Given the description of an element on the screen output the (x, y) to click on. 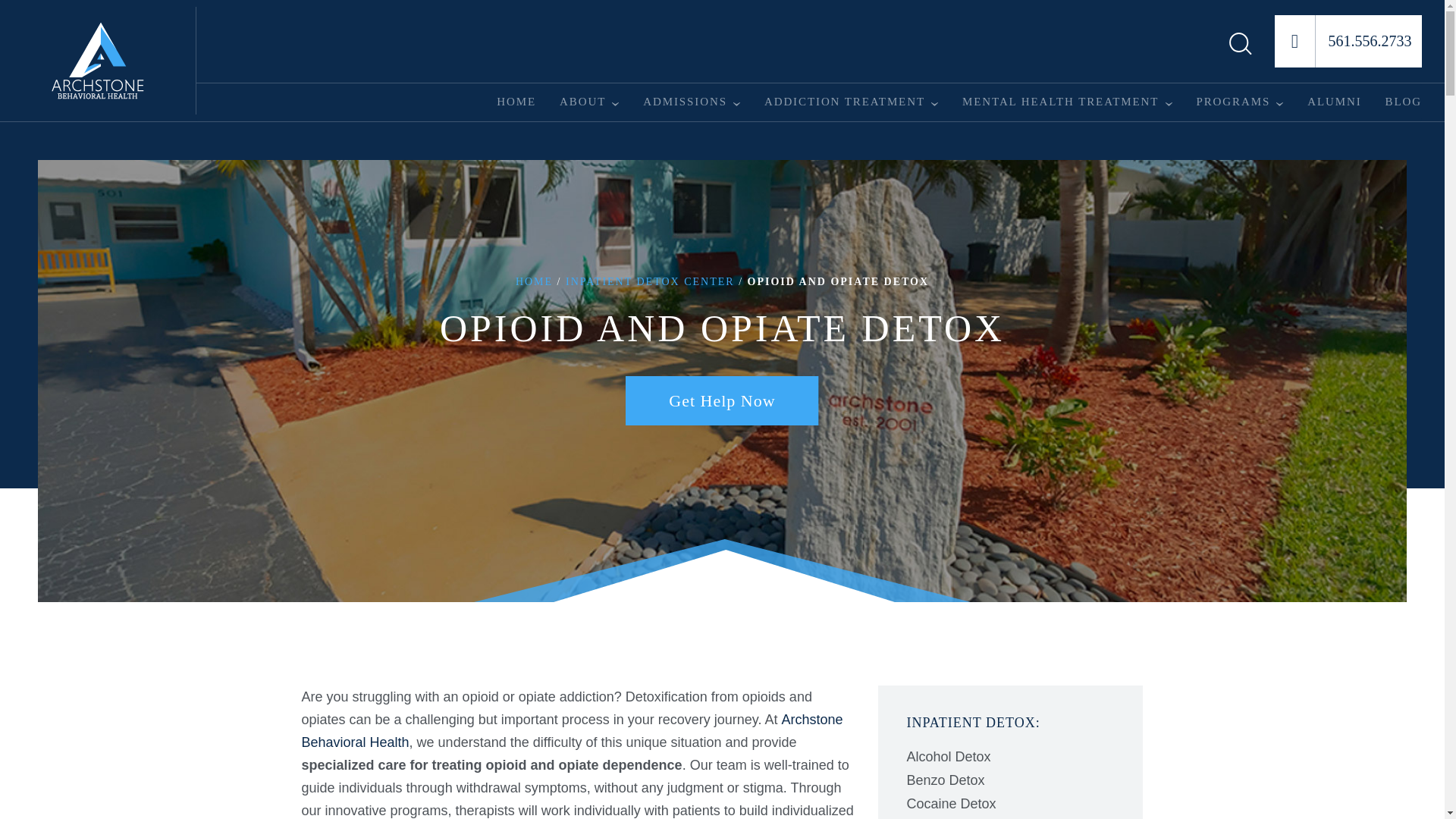
PROGRAMS (1232, 101)
HOME (515, 101)
561.556.2733 (1348, 41)
MENTAL HEALTH TREATMENT (1060, 101)
ADMISSIONS (684, 101)
ADDICTION TREATMENT (844, 101)
ABOUT (582, 101)
